Given the description of an element on the screen output the (x, y) to click on. 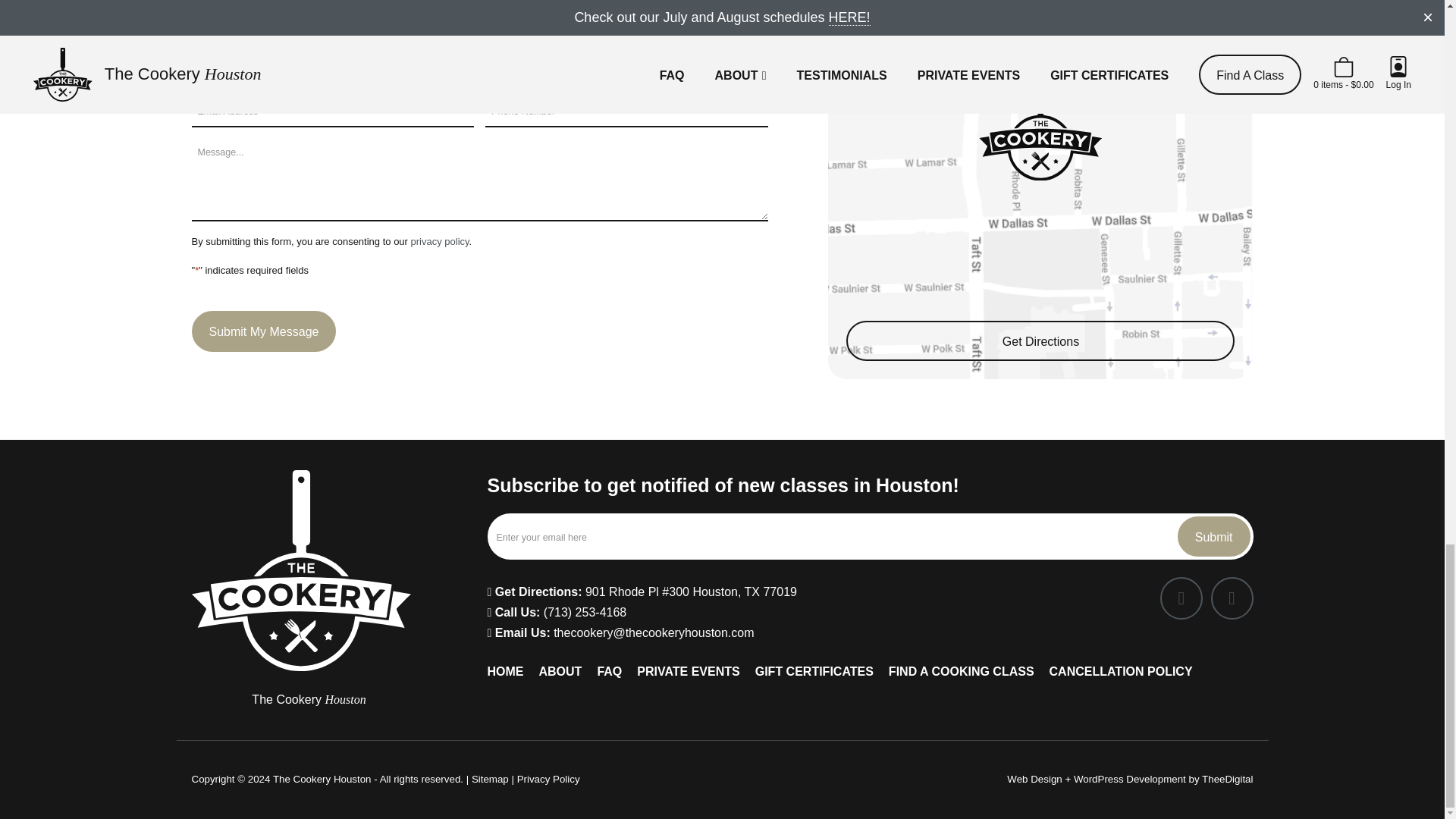
Submit Form (1213, 536)
Web Design Services (1034, 778)
Submit Form (263, 331)
Cancellation Policy (561, 2)
